Given the description of an element on the screen output the (x, y) to click on. 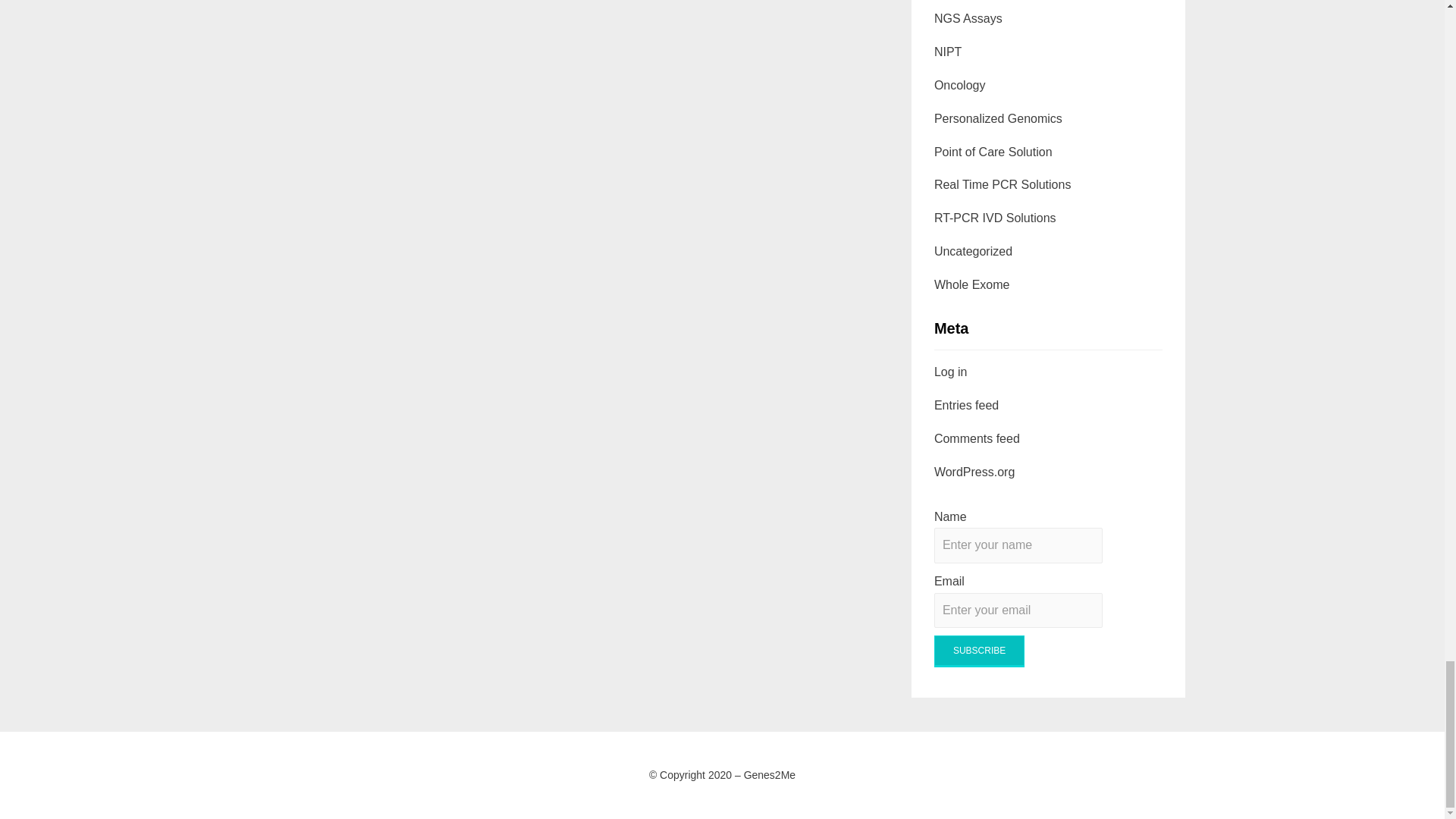
Subscribe (979, 651)
